Given the description of an element on the screen output the (x, y) to click on. 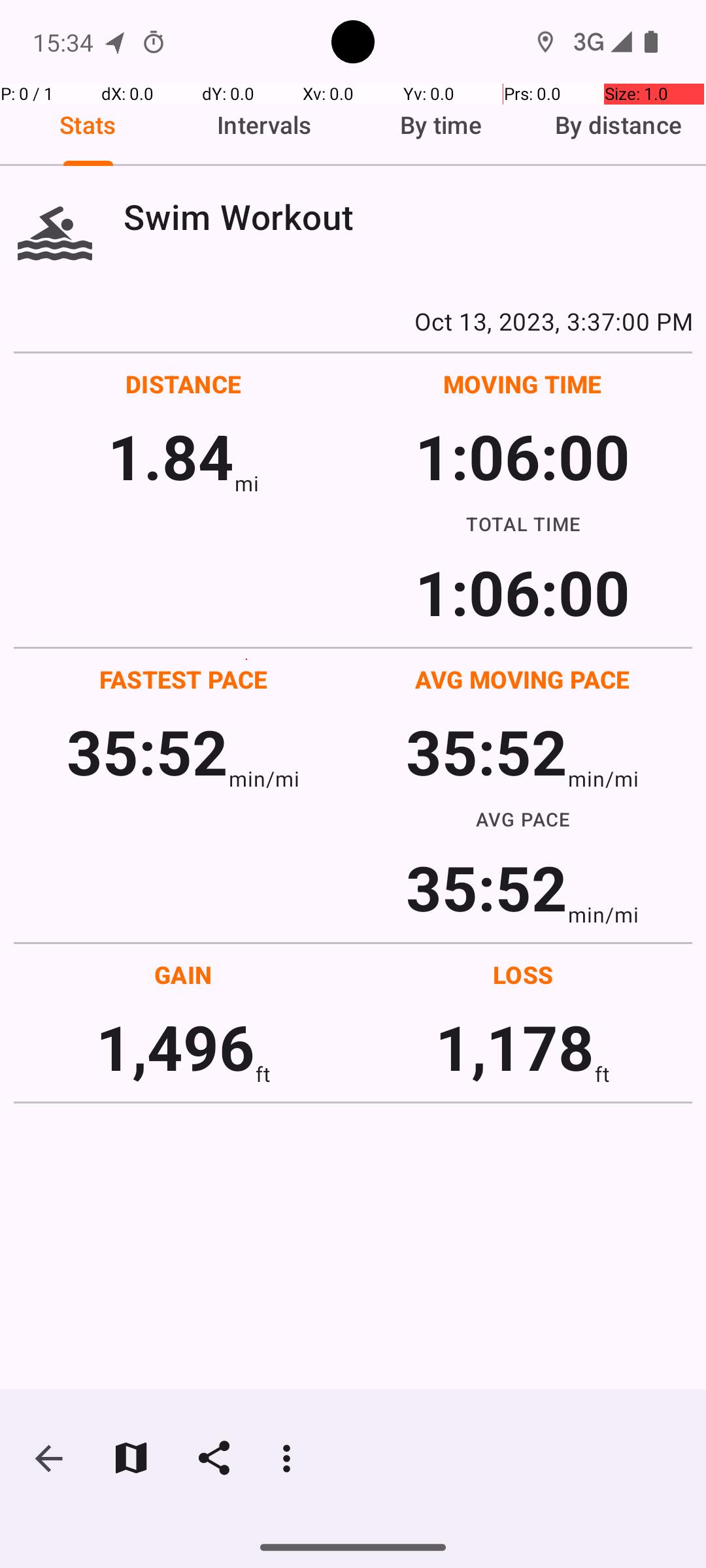
Swim Workout Element type: android.widget.TextView (407, 216)
Oct 13, 2023, 3:37:00 PM Element type: android.widget.TextView (352, 320)
1.84 Element type: android.widget.TextView (170, 455)
1:06:00 Element type: android.widget.TextView (522, 455)
35:52 Element type: android.widget.TextView (147, 750)
1,496 Element type: android.widget.TextView (175, 1045)
1,178 Element type: android.widget.TextView (514, 1045)
